Given the description of an element on the screen output the (x, y) to click on. 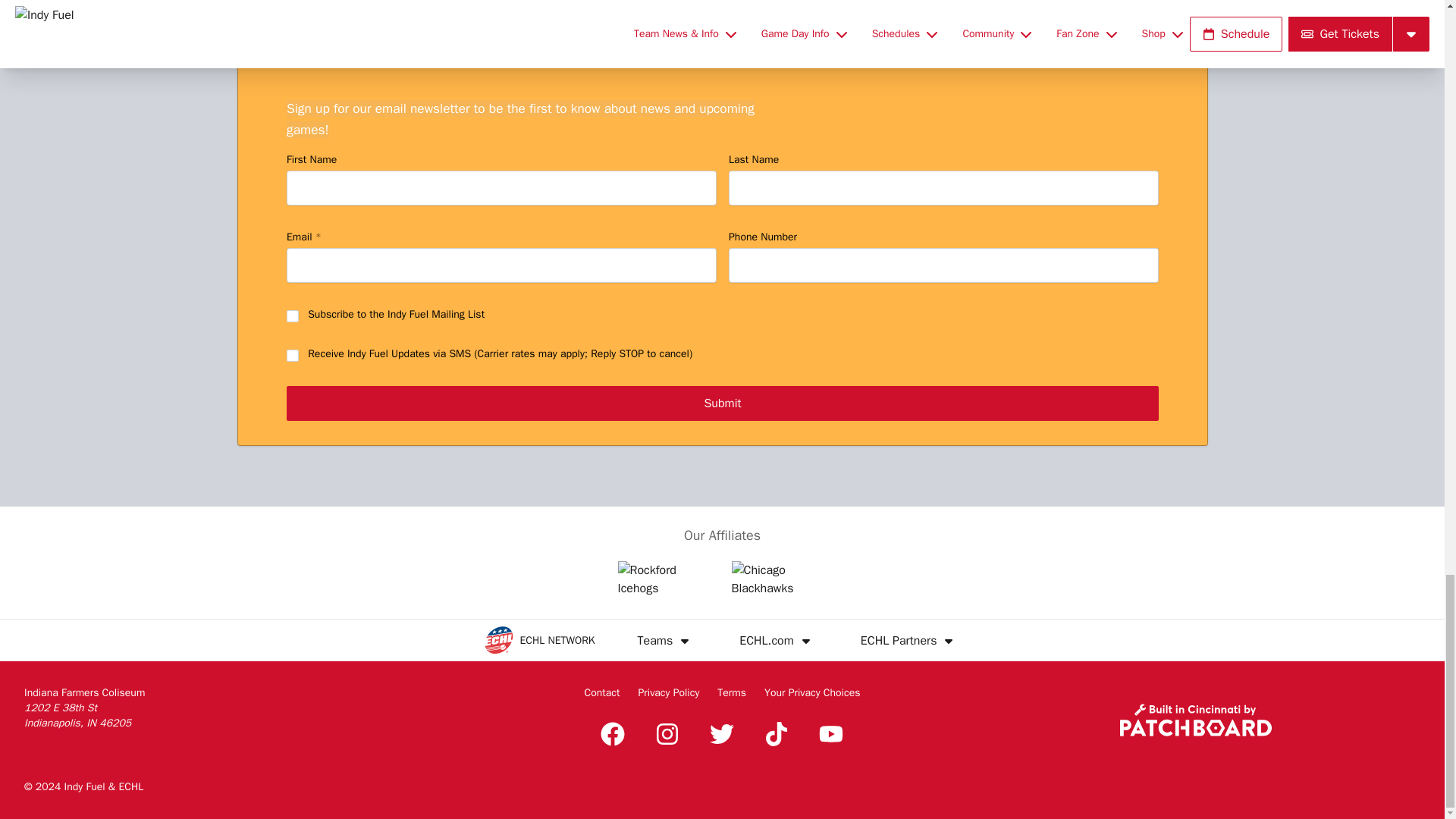
Built in Cincinnati by Patchboard (1195, 719)
Facebook (612, 733)
TikTok (776, 733)
YouTube (830, 733)
Twitter (721, 733)
on (292, 316)
on (292, 355)
Instagram (667, 733)
